Given the description of an element on the screen output the (x, y) to click on. 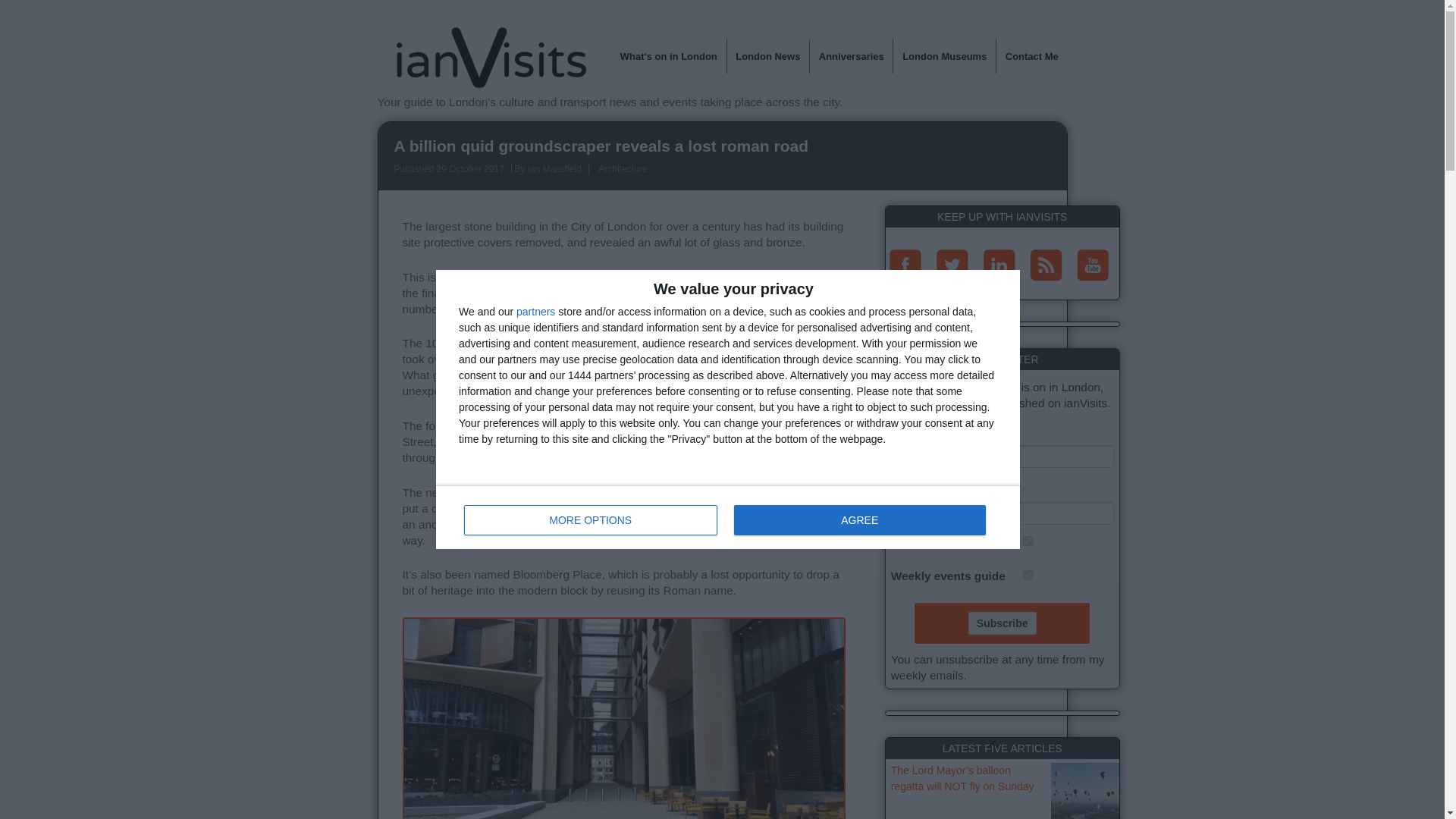
partners (535, 311)
What's on in London (668, 56)
Subscribe (1002, 622)
AGREE (859, 520)
yes (727, 516)
Anniversaries (1027, 574)
London News (850, 56)
Contact Me (767, 56)
MORE OPTIONS (1031, 56)
yes (590, 520)
London Museums (1027, 541)
